Given the description of an element on the screen output the (x, y) to click on. 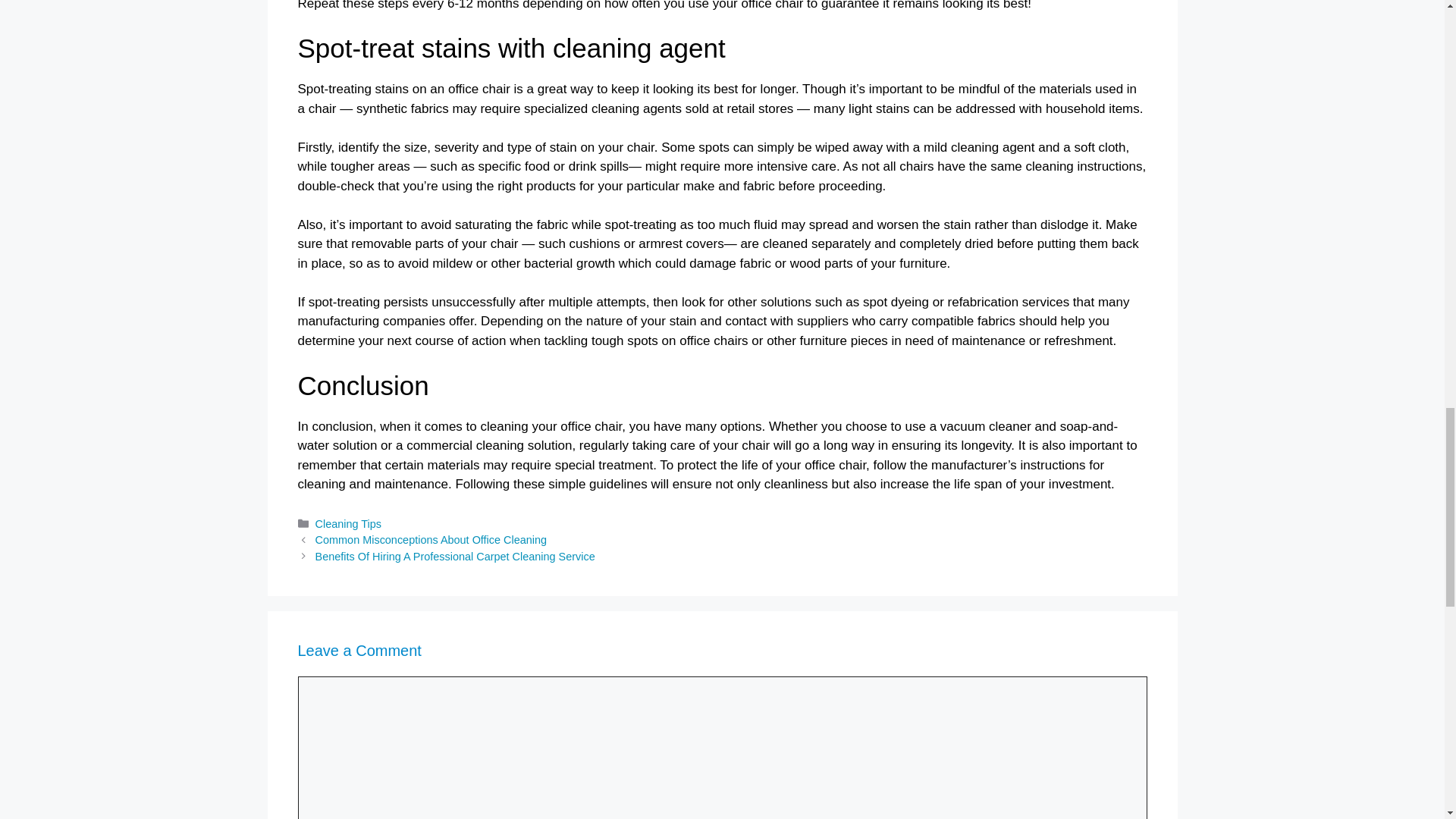
Cleaning Tips (348, 523)
Common Misconceptions About Office Cleaning (431, 539)
Benefits Of Hiring A Professional Carpet Cleaning Service (455, 556)
